Given the description of an element on the screen output the (x, y) to click on. 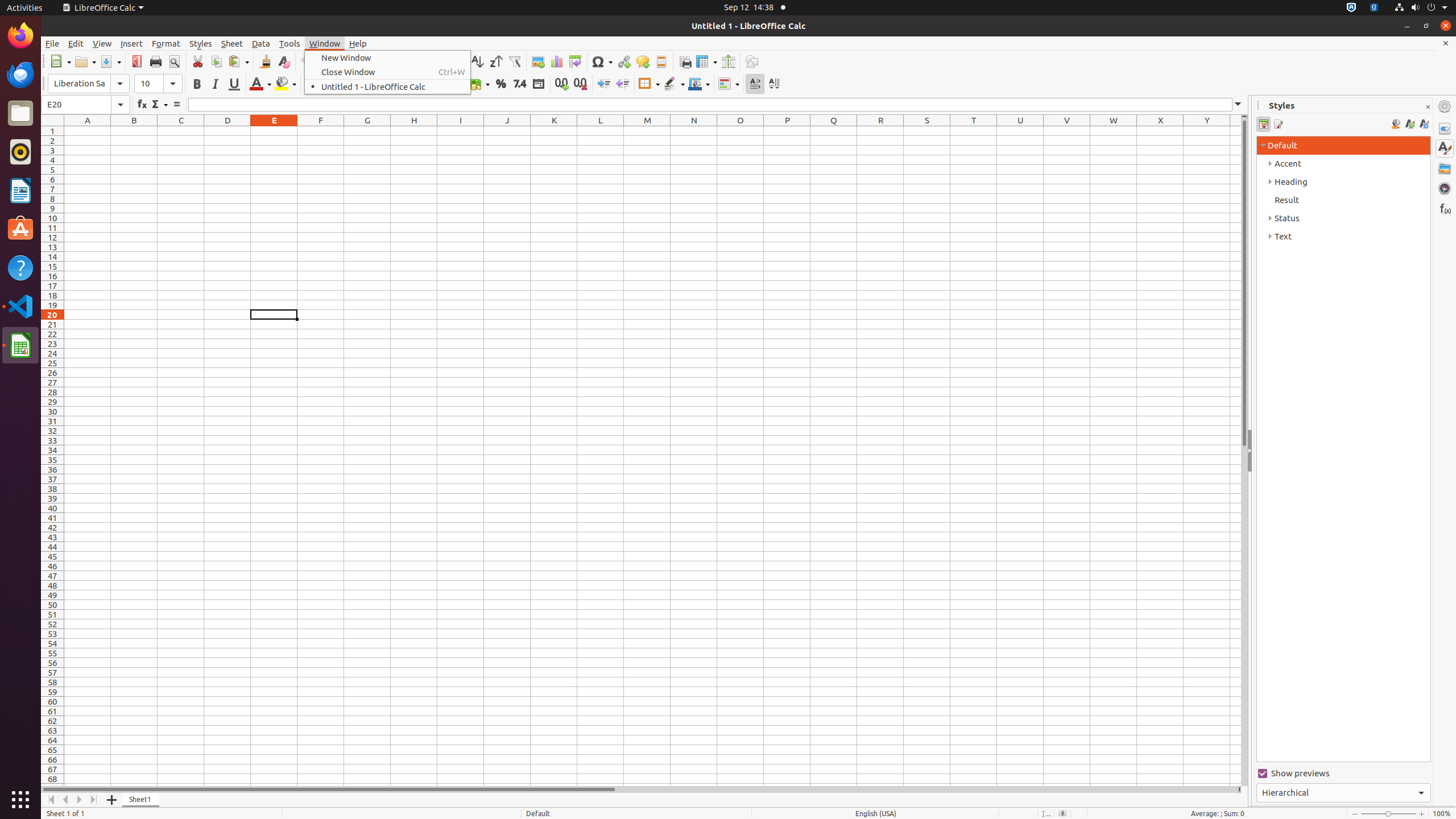
Text direction from top to bottom Element type: toggle-button (773, 83)
LibreOffice Calc Element type: menu (102, 7)
J1 Element type: table-cell (507, 130)
Add Decimal Place Element type: push-button (561, 83)
Close Window Element type: menu-item (387, 71)
